Given the description of an element on the screen output the (x, y) to click on. 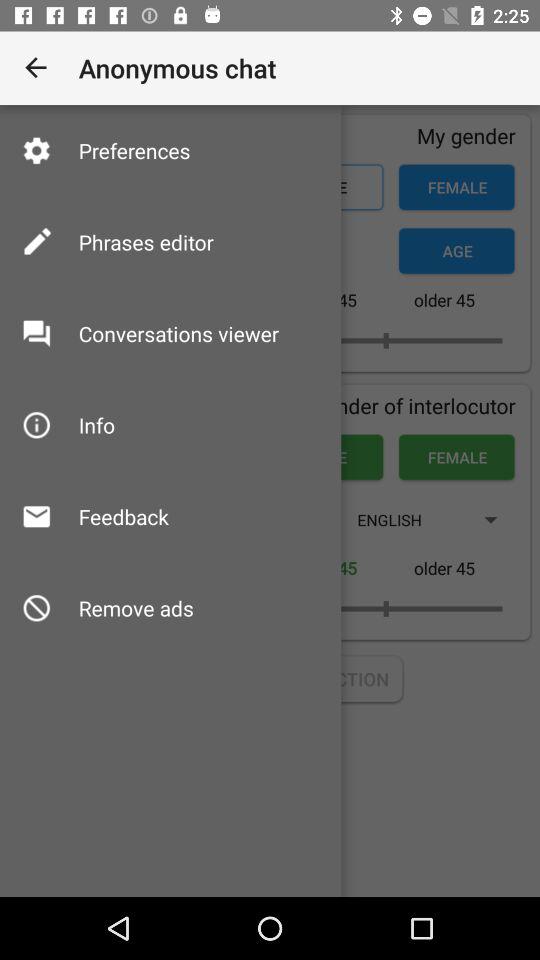
launch icon to the left of the anonymous chat icon (36, 68)
